Given the description of an element on the screen output the (x, y) to click on. 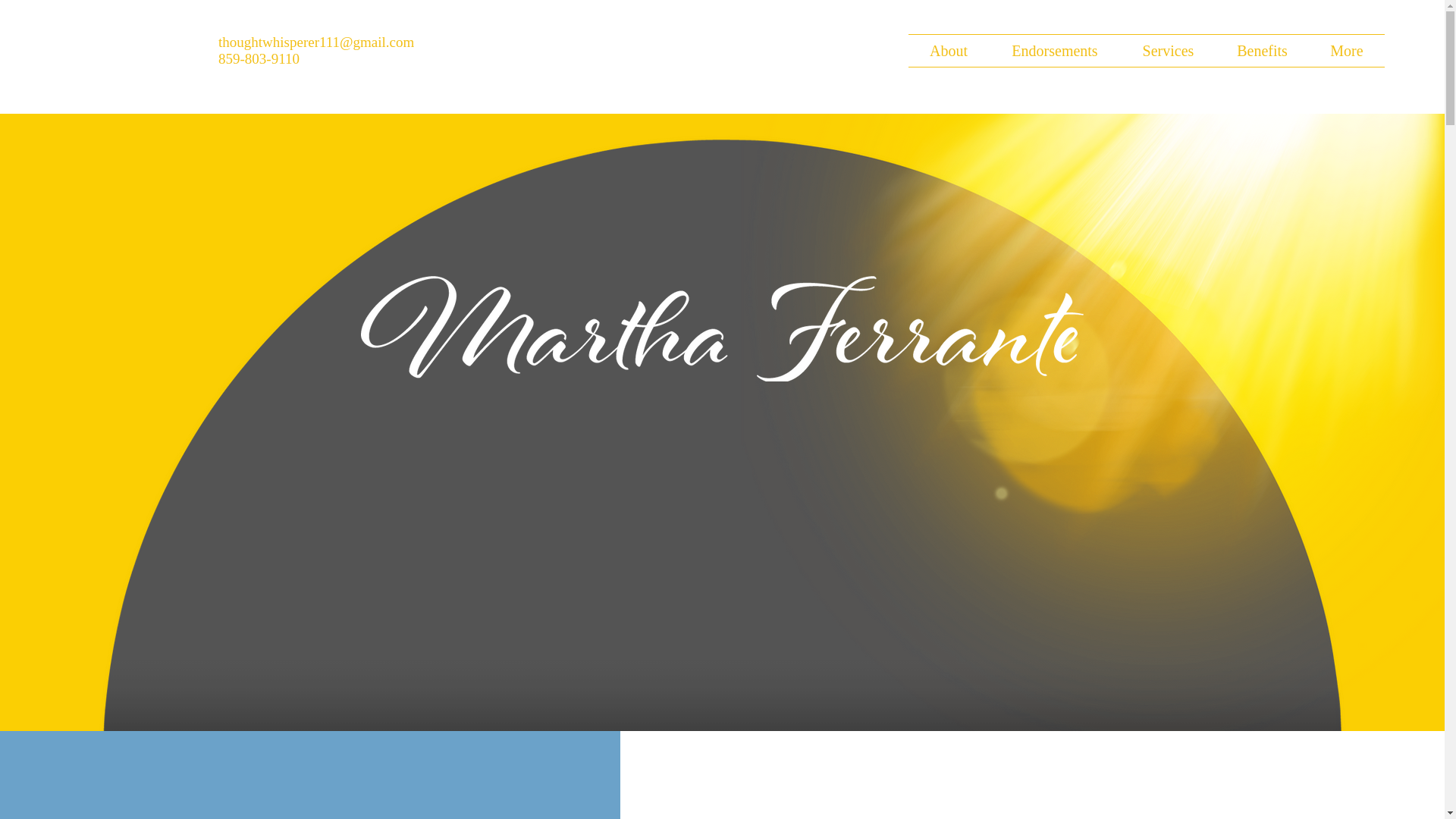
Endorsements (1054, 50)
About (948, 50)
Services (1168, 50)
Benefits (1261, 50)
